Given the description of an element on the screen output the (x, y) to click on. 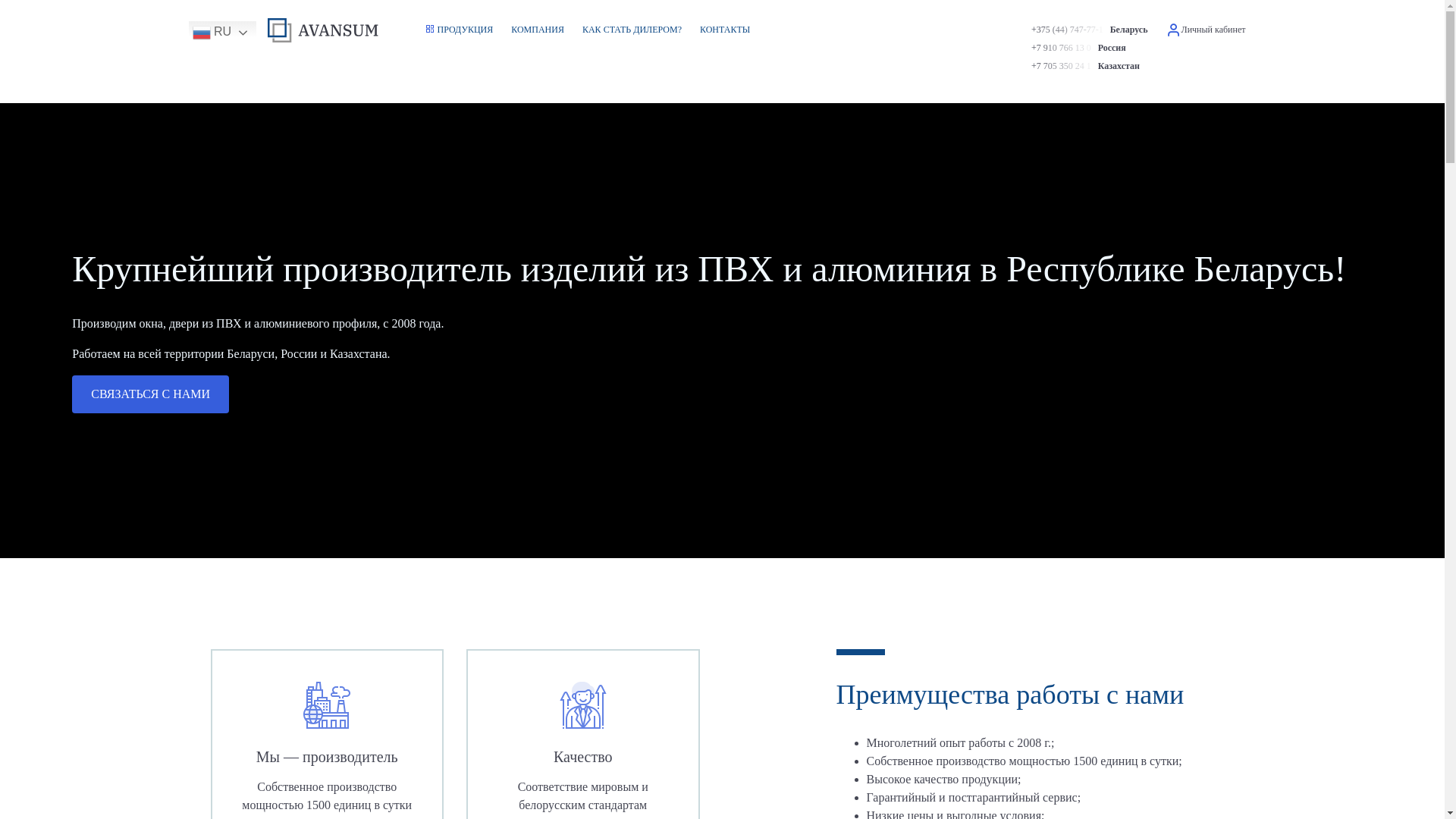
RU Element type: text (253, 32)
